Given the description of an element on the screen output the (x, y) to click on. 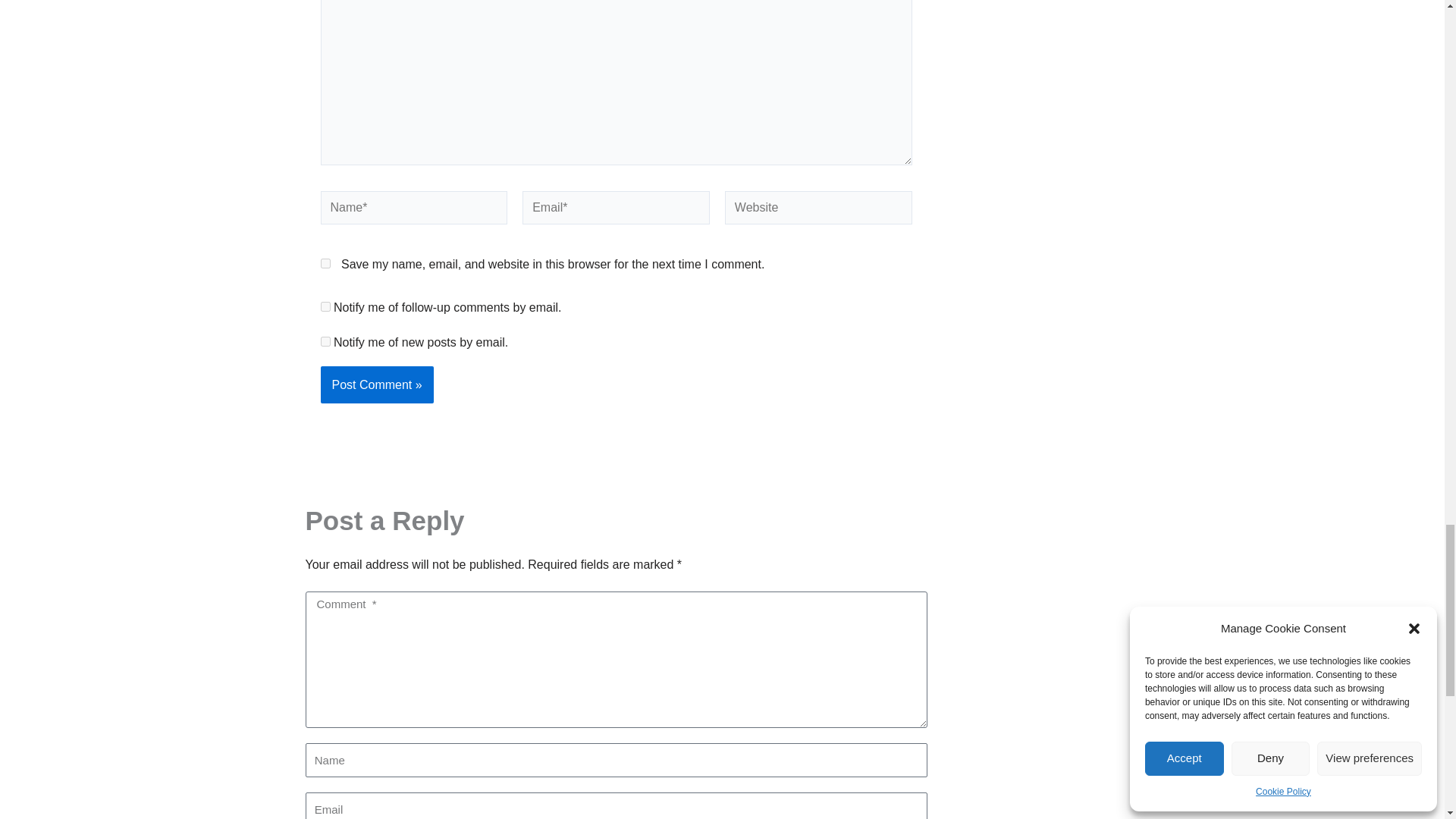
subscribe (325, 307)
yes (325, 263)
subscribe (325, 341)
